Given the description of an element on the screen output the (x, y) to click on. 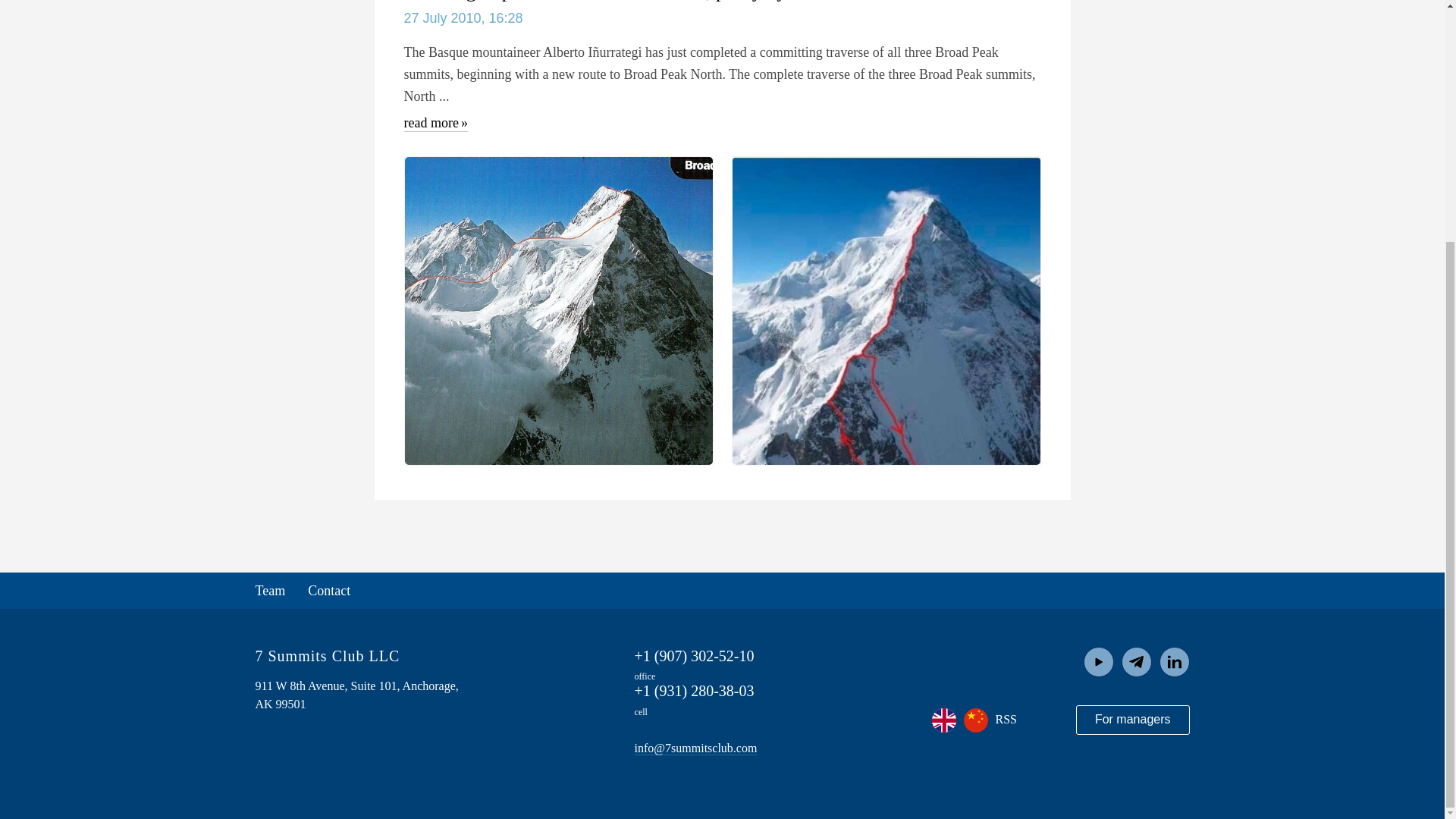
RSS (1005, 718)
Contact (328, 590)
read more (435, 119)
